Given the description of an element on the screen output the (x, y) to click on. 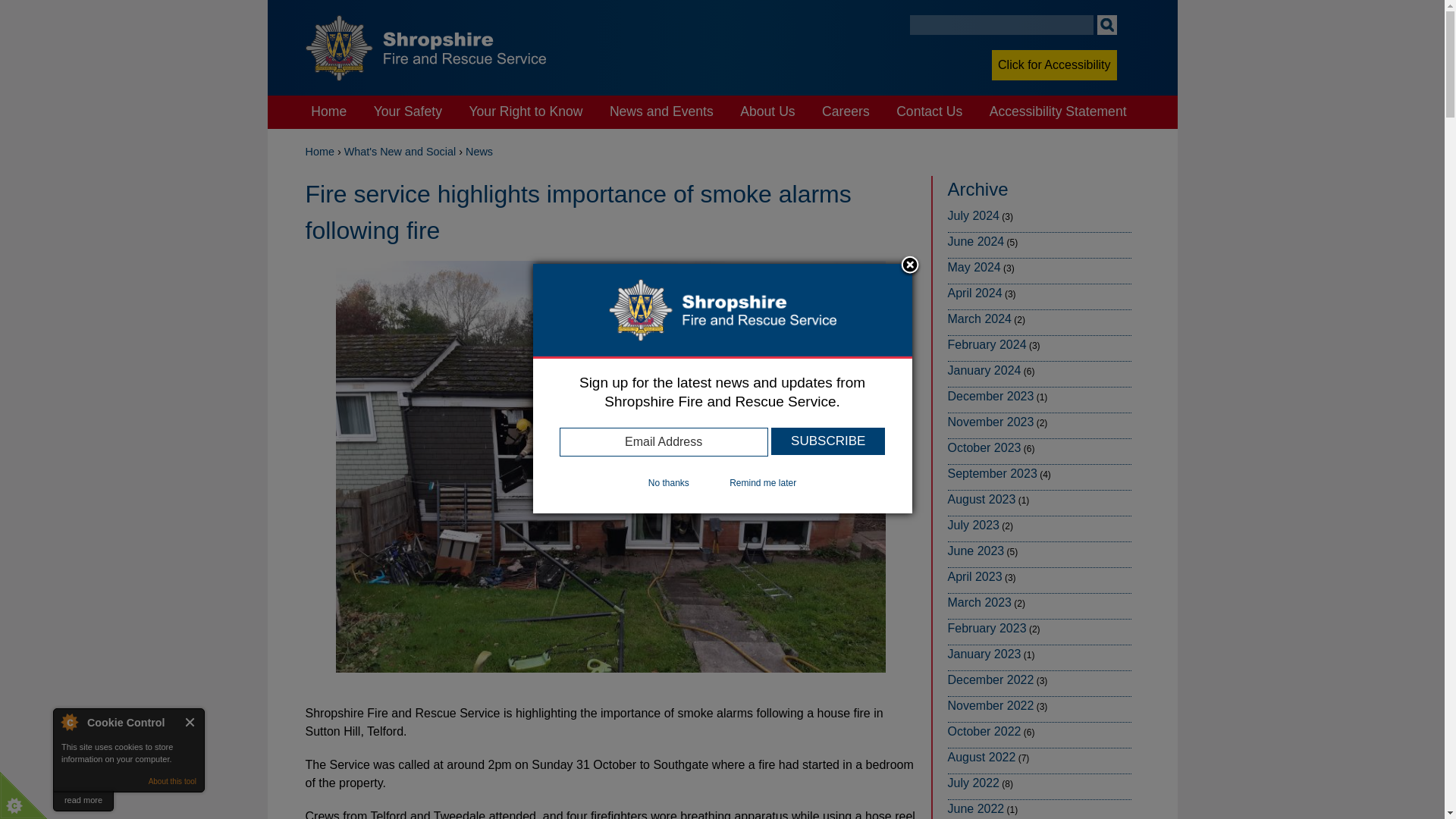
Contact Us (929, 111)
read more (82, 801)
About Cookie Control (68, 721)
Search (1106, 25)
Accessibility Statement (1056, 111)
Home (318, 151)
Subscribe (828, 441)
About this tool (172, 781)
About Cookie Control (68, 721)
Home (328, 111)
What's New and Social (400, 151)
Enter the terms you wish to search for. (1001, 25)
Close (190, 722)
Search (1106, 25)
